Given the description of an element on the screen output the (x, y) to click on. 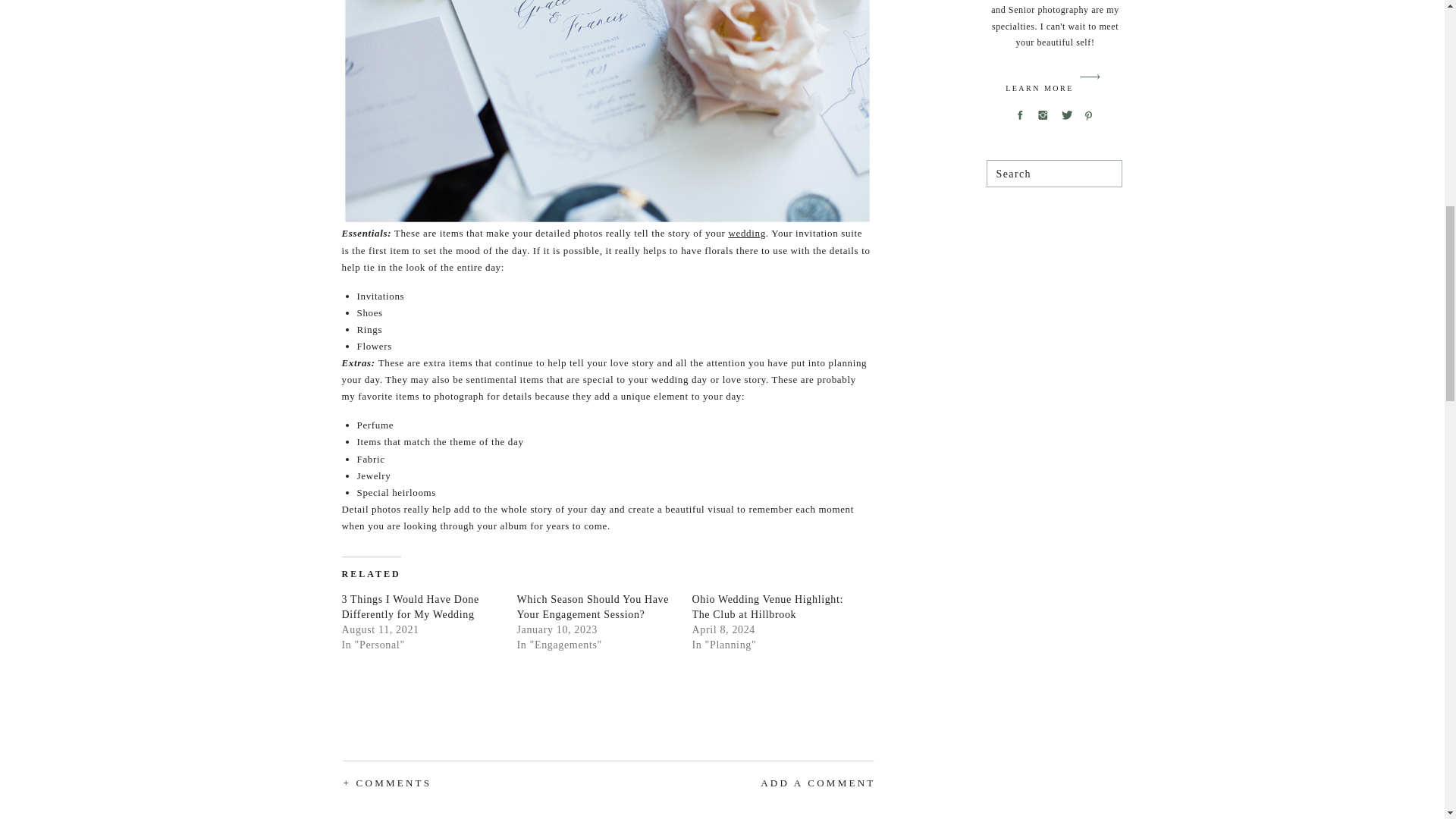
arrow (1089, 76)
Which Season Should You Have Your Engagement Session? (592, 606)
Ohio Wedding Venue Highlight: The Club at Hillbrook (767, 606)
Which Season Should You Have Your Engagement Session? (592, 606)
ADD A COMMENT (776, 783)
3 Things I Would Have Done Differently for My Wedding (409, 606)
Ohio Wedding Venue Highlight: The Club at Hillbrook (767, 606)
wedding (746, 233)
3 Things I Would Have Done Differently for My Wedding (409, 606)
